Given the description of an element on the screen output the (x, y) to click on. 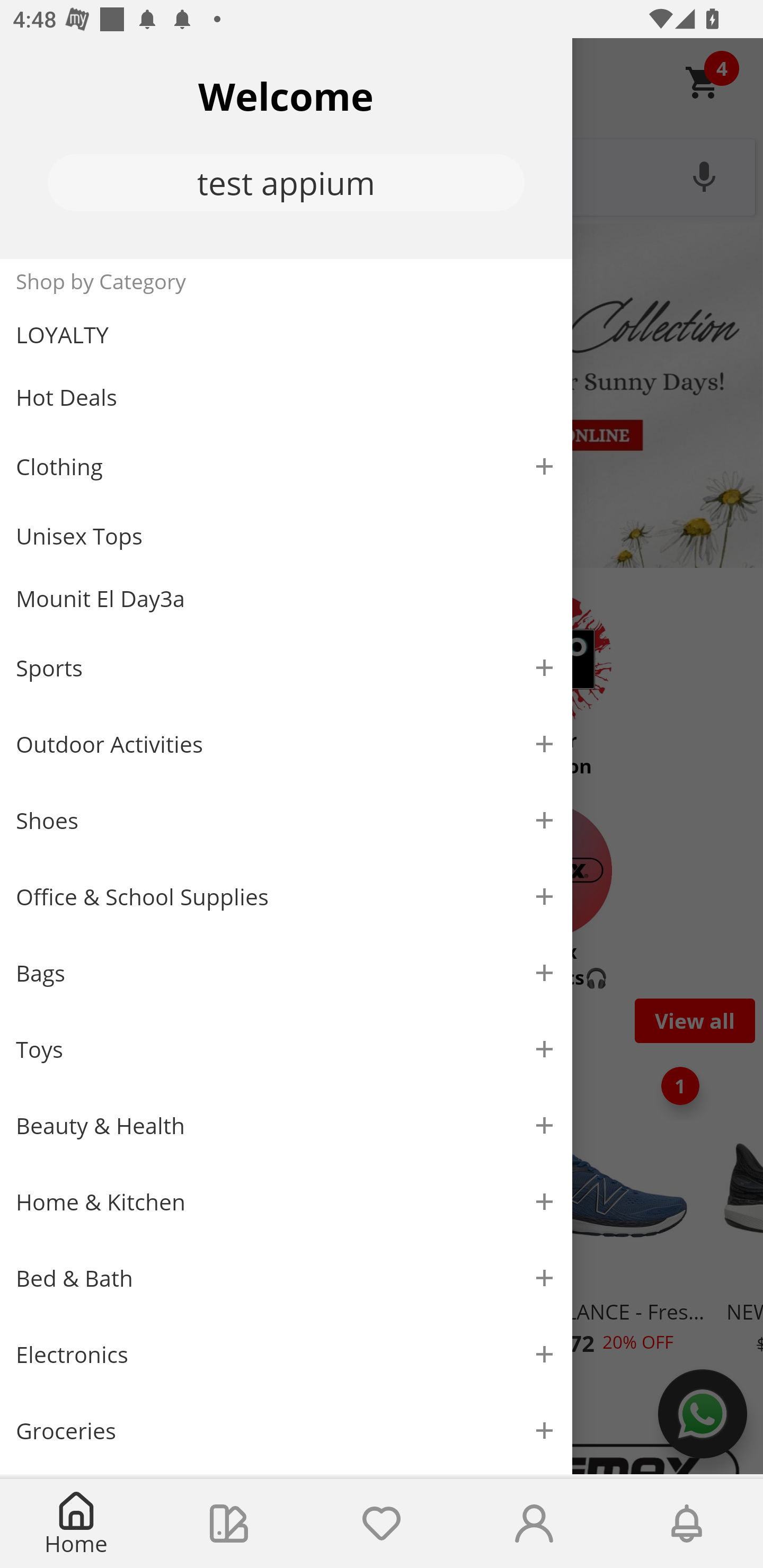
Welcome test appium (286, 147)
LOYALTY (286, 334)
Hot Deals (286, 396)
Clothing (286, 466)
Unisex Tops (286, 535)
Mounit El Day3a (286, 598)
Sports (286, 667)
Outdoor Activities (286, 743)
Shoes (286, 820)
Office & School Supplies (286, 896)
Bags (286, 972)
Toys (286, 1049)
Beauty & Health (286, 1125)
Home & Kitchen (286, 1201)
Bed & Bath (286, 1278)
Electronics (286, 1354)
Groceries (286, 1430)
Collections (228, 1523)
Wishlist (381, 1523)
Account (533, 1523)
Notifications (686, 1523)
